Given the description of an element on the screen output the (x, y) to click on. 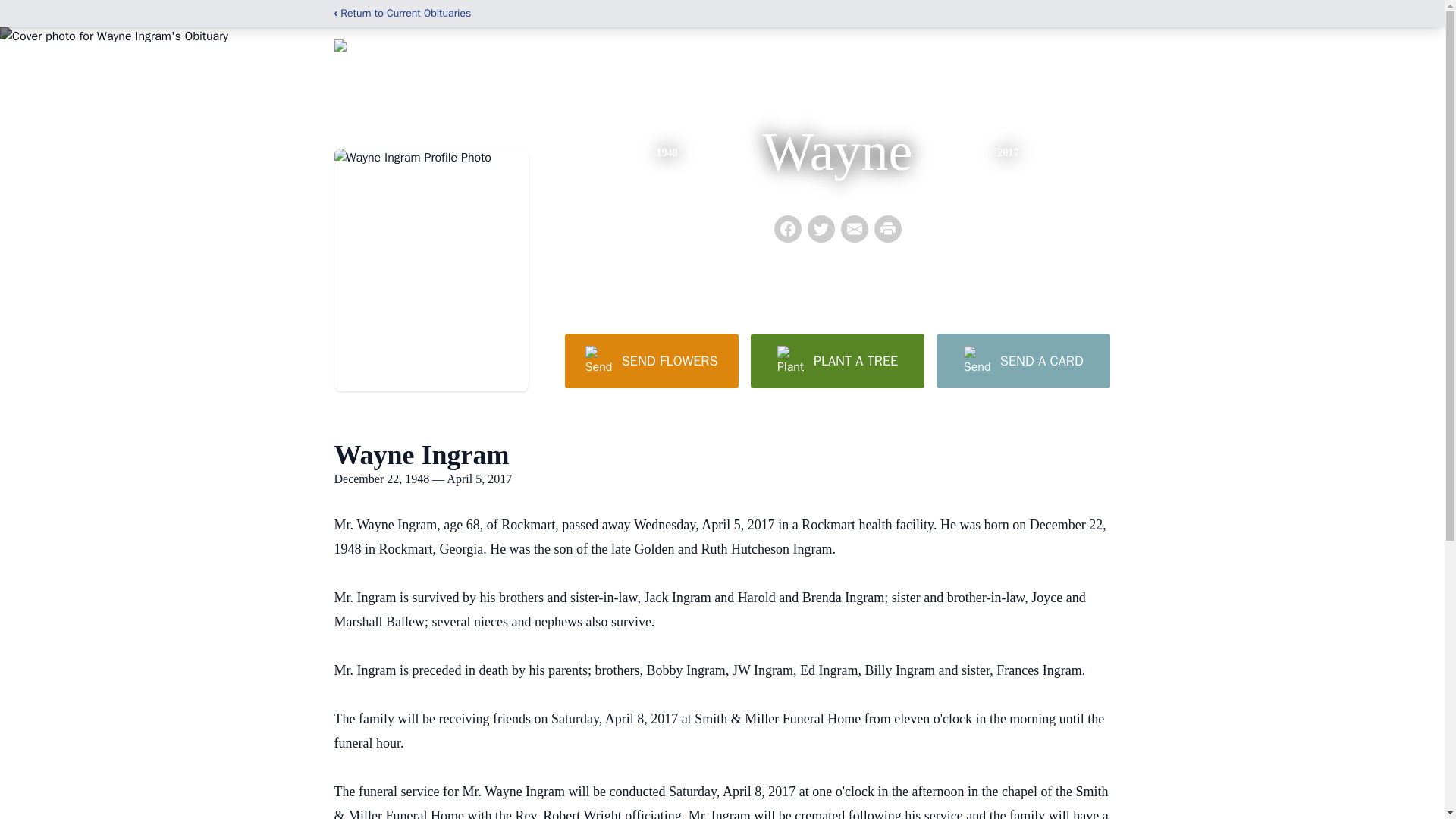
SEND A CARD (1022, 360)
SEND FLOWERS (651, 360)
PLANT A TREE (837, 360)
